Given the description of an element on the screen output the (x, y) to click on. 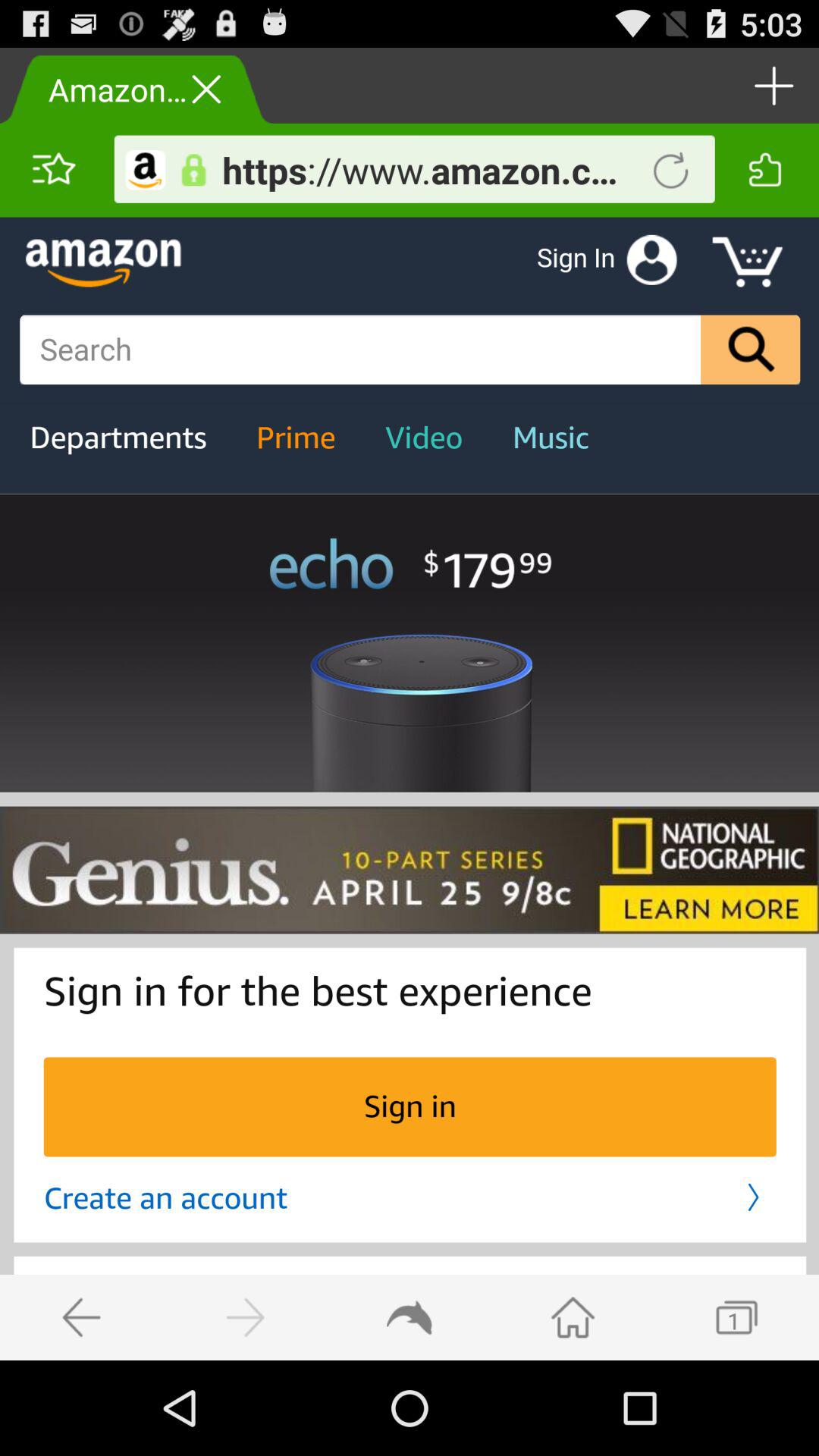
advertisement page (409, 788)
